Given the description of an element on the screen output the (x, y) to click on. 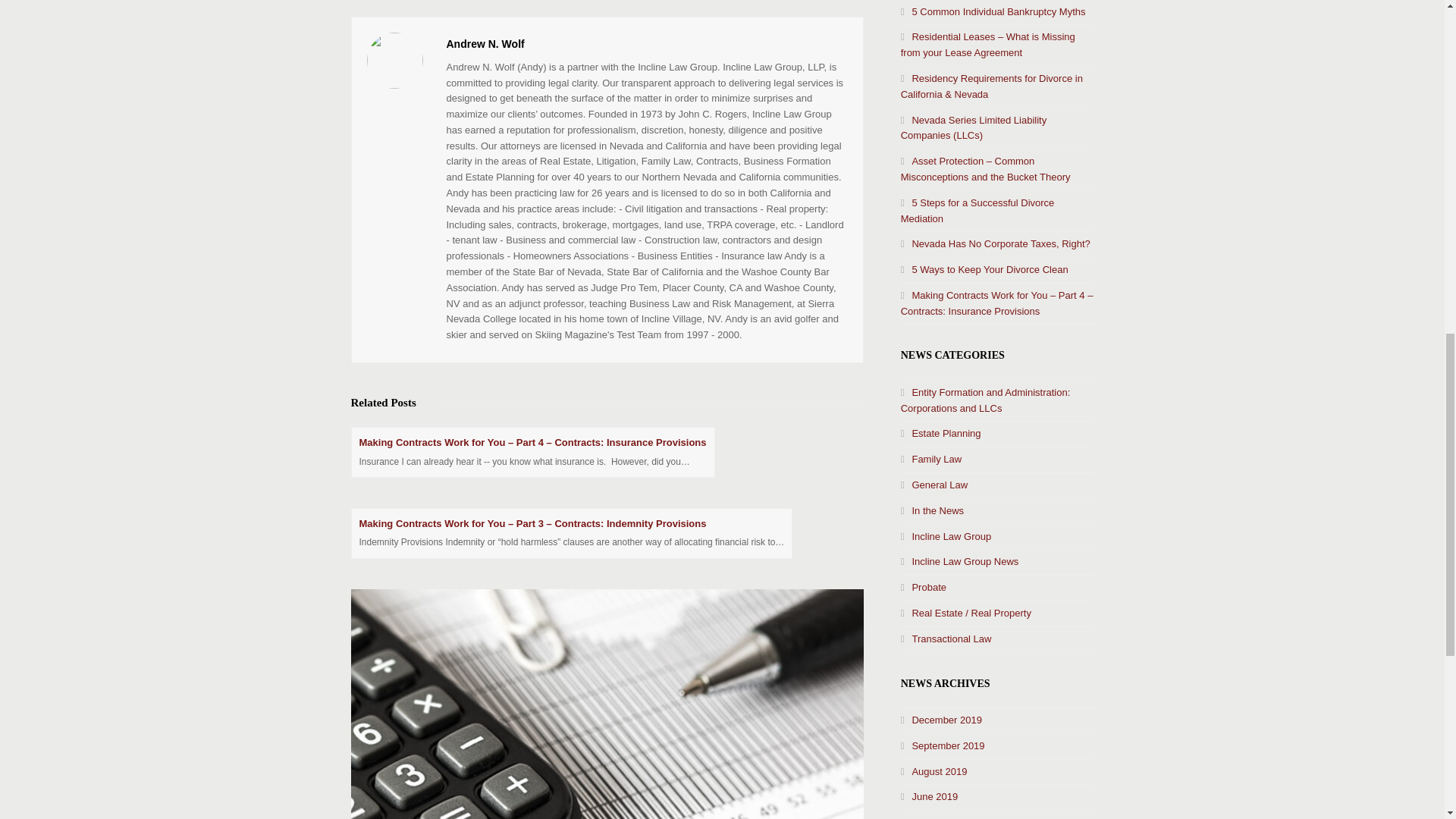
Visit Author Page (484, 43)
Visit Author Page (394, 60)
